Given the description of an element on the screen output the (x, y) to click on. 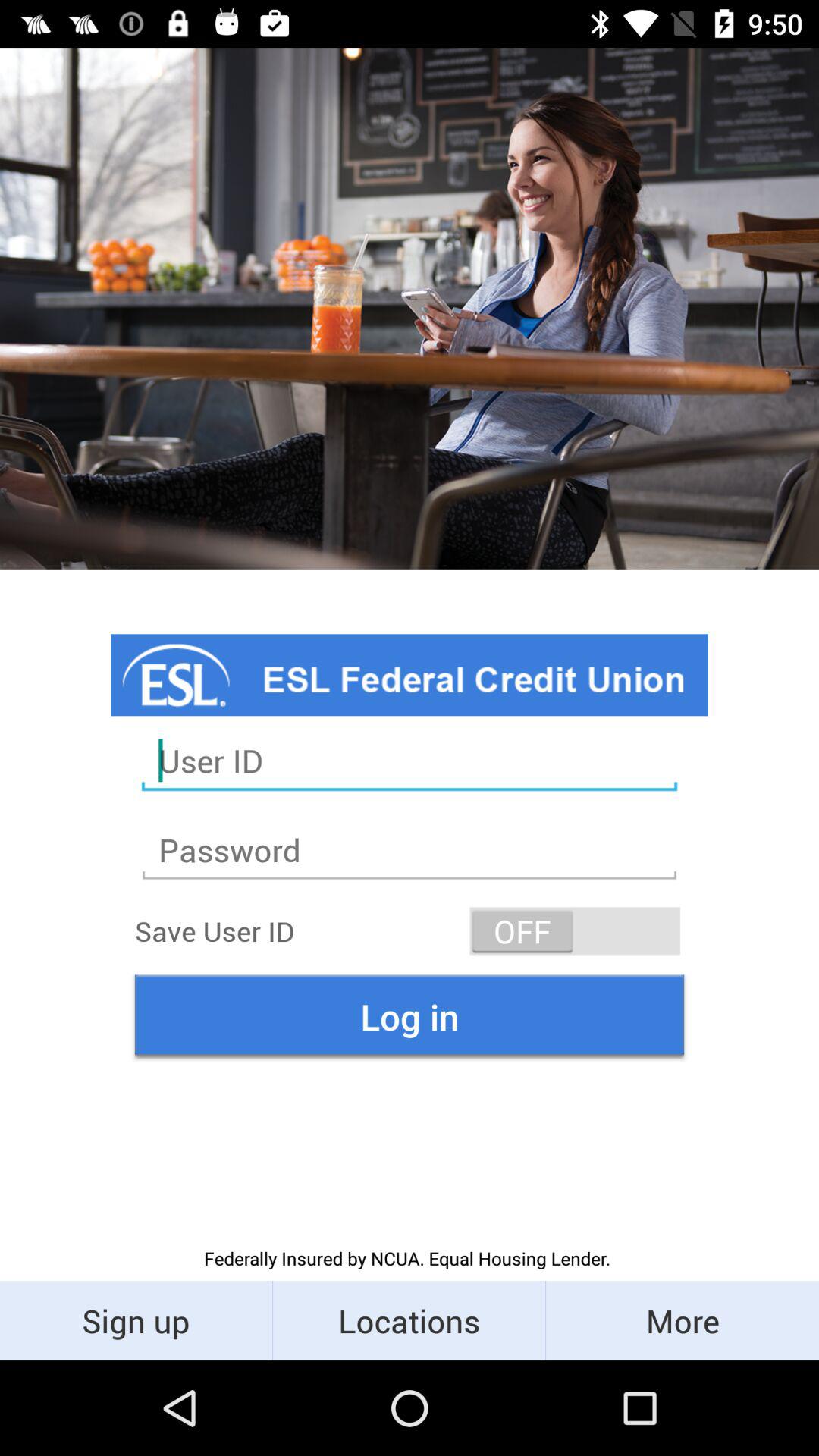
click the more item (682, 1320)
